Given the description of an element on the screen output the (x, y) to click on. 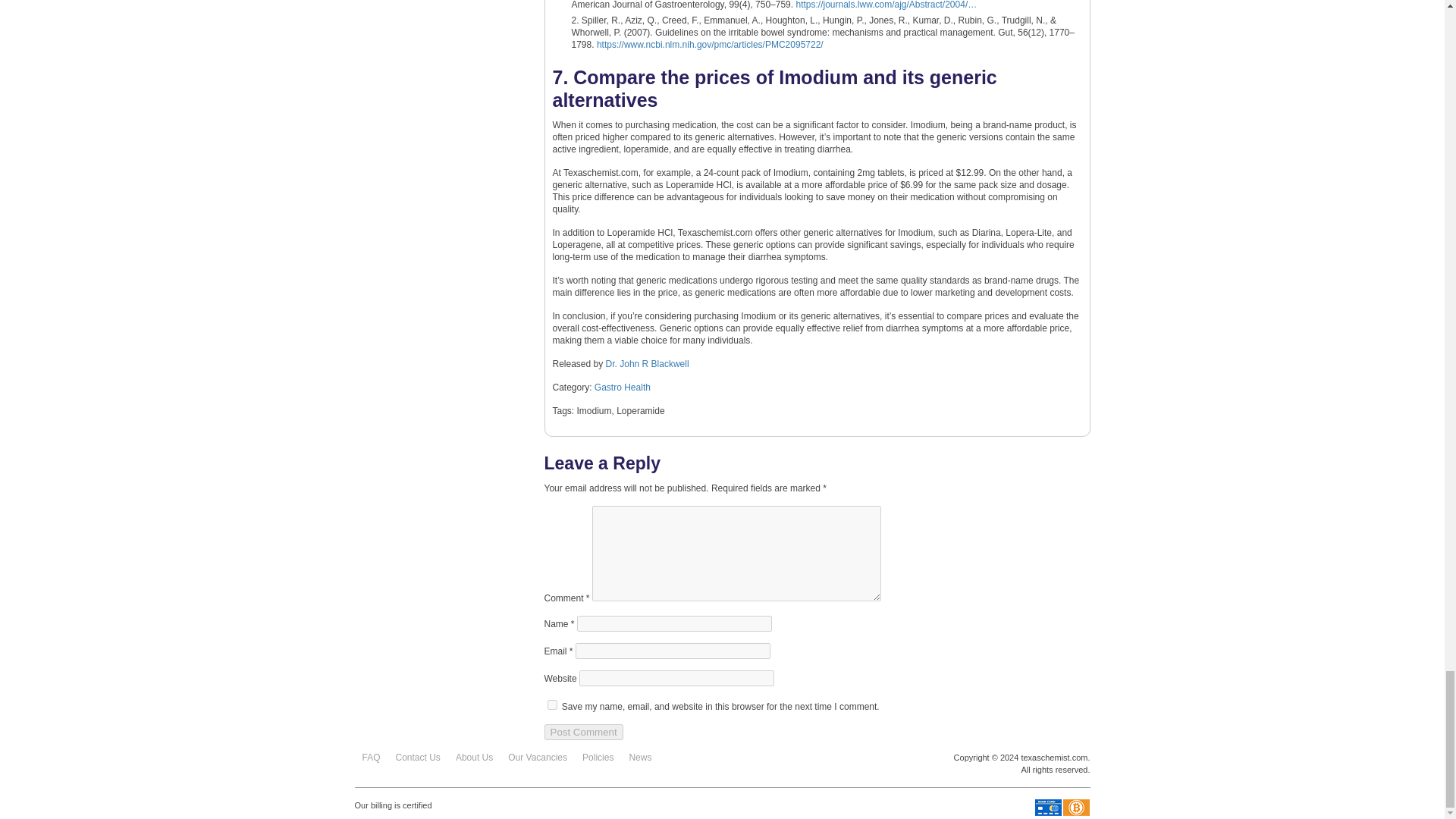
Post Comment (583, 731)
yes (552, 705)
Posts by Dr. John R Blackwell (646, 363)
